Given the description of an element on the screen output the (x, y) to click on. 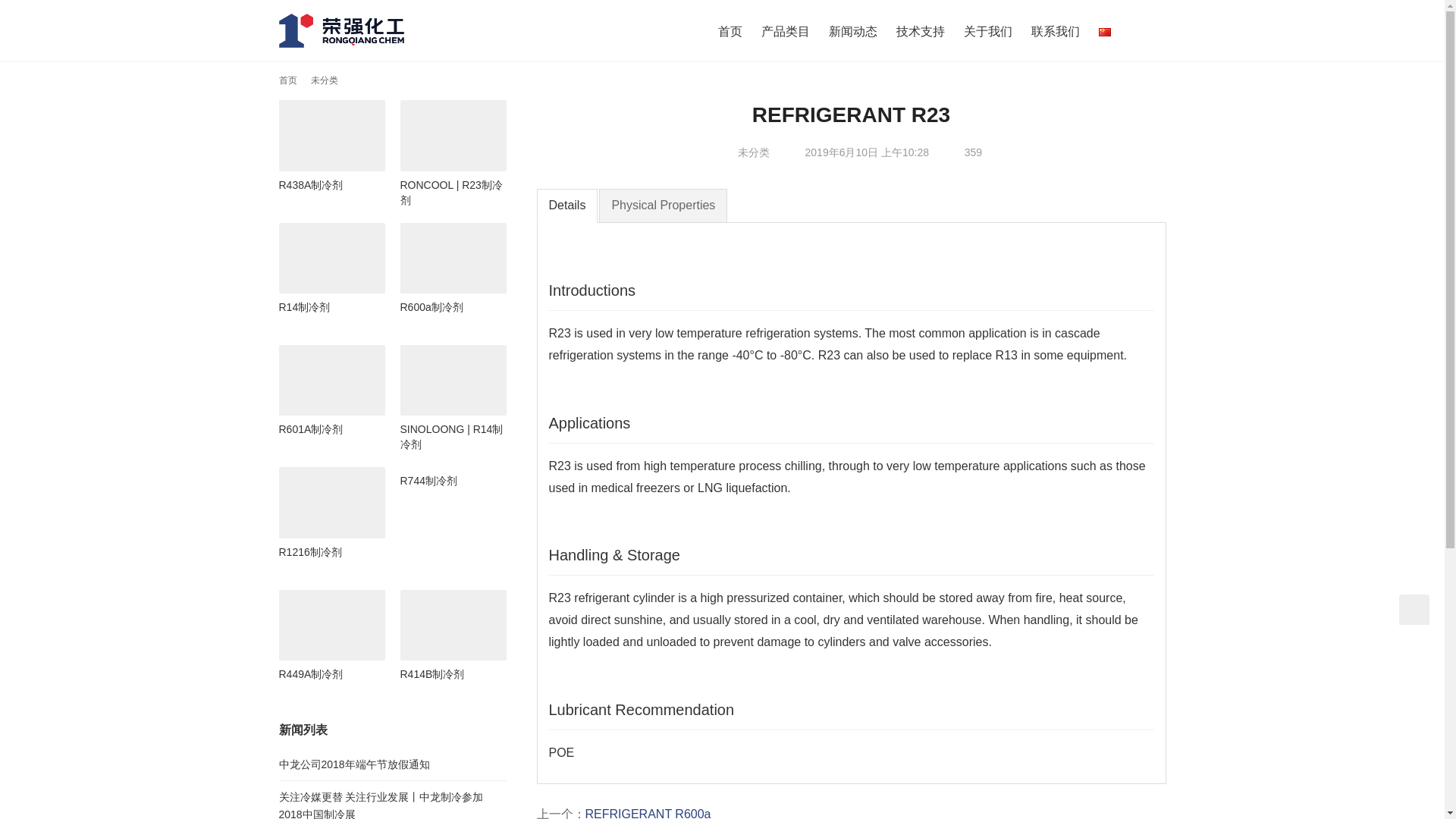
Physical Properties (662, 205)
REFRIGERANT R600a (648, 813)
Details (567, 205)
